Given the description of an element on the screen output the (x, y) to click on. 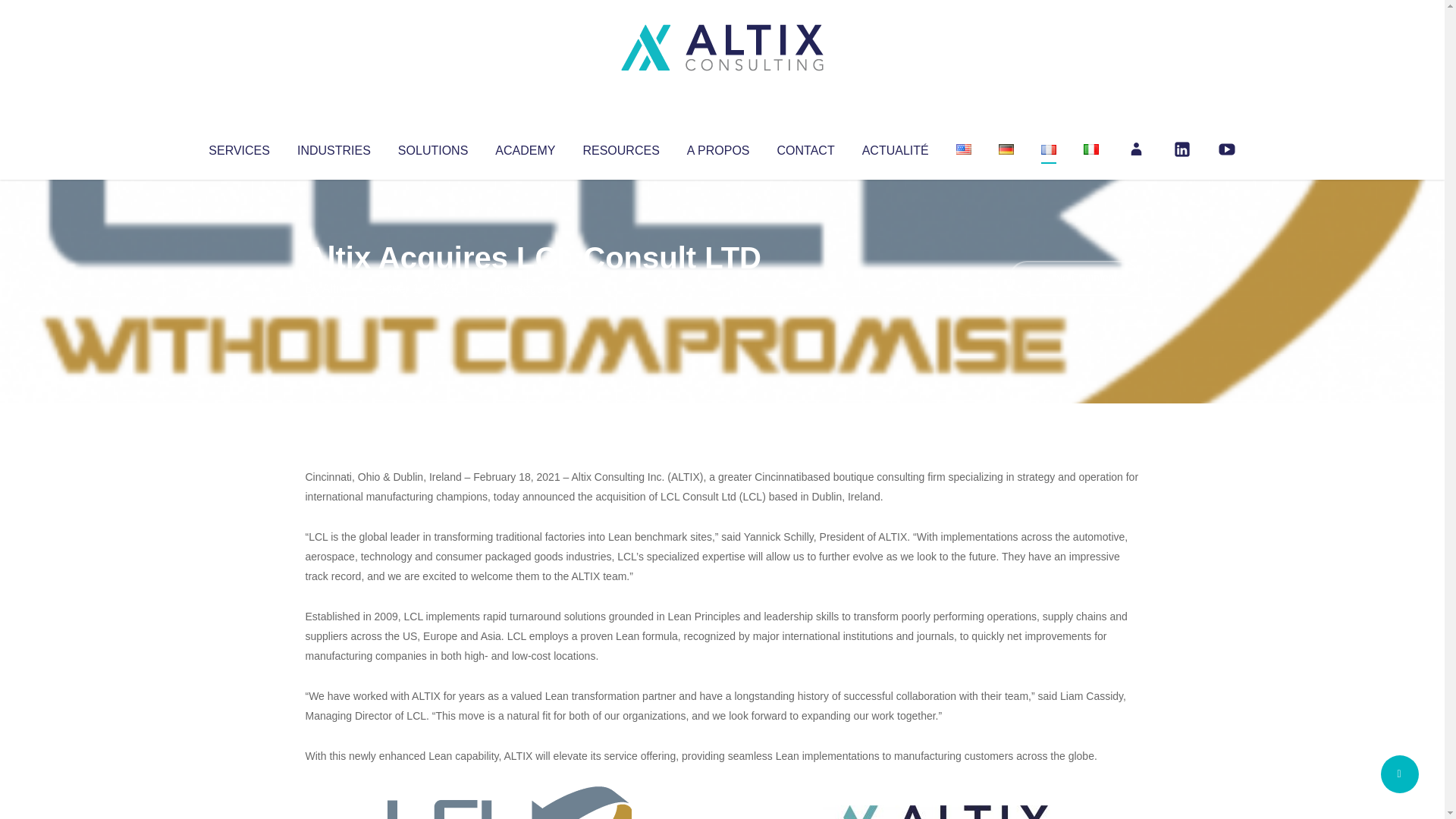
ACADEMY (524, 146)
Altix (333, 287)
SERVICES (238, 146)
Articles par Altix (333, 287)
A PROPOS (718, 146)
Uncategorized (530, 287)
No Comments (1073, 278)
SOLUTIONS (432, 146)
INDUSTRIES (334, 146)
RESOURCES (620, 146)
